Given the description of an element on the screen output the (x, y) to click on. 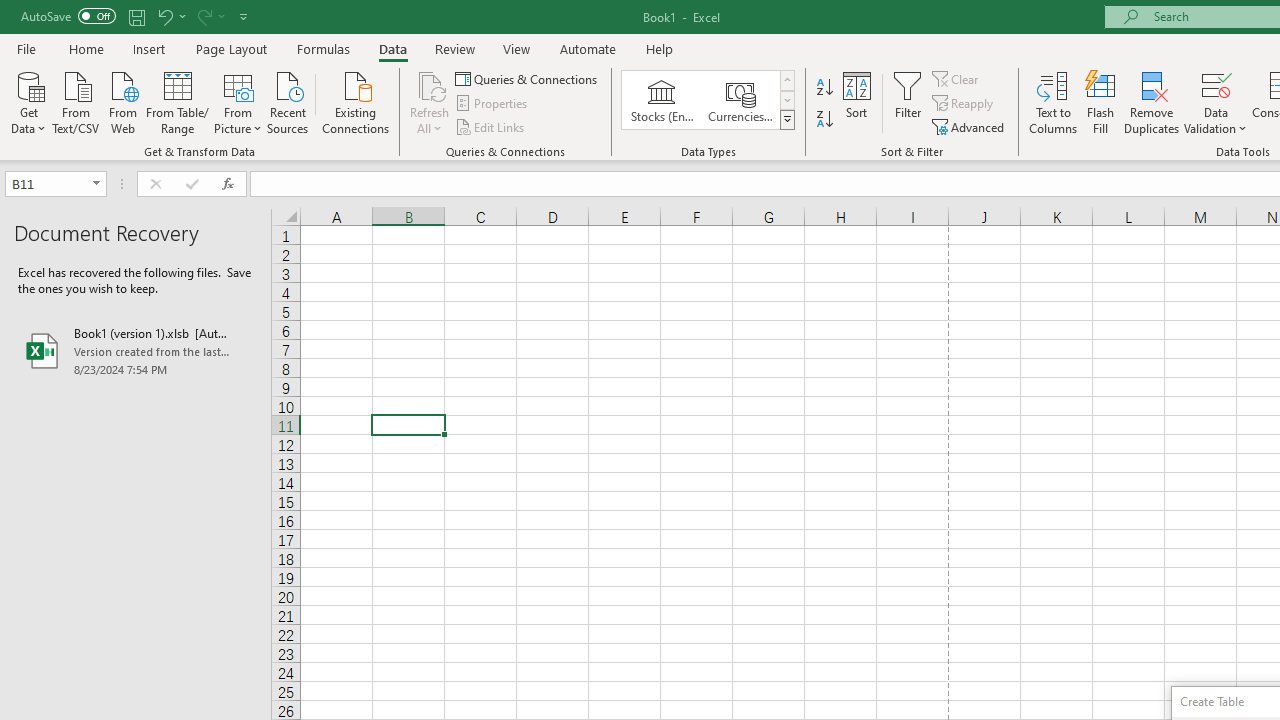
Reapply (964, 103)
Clear (957, 78)
Automate (588, 48)
From Web (122, 101)
Existing Connections (355, 101)
Data Validation... (1215, 102)
Data Validation... (1215, 84)
Text to Columns... (1053, 102)
Book1 (version 1).xlsb  [AutoRecovered] (136, 350)
Sort A to Z (824, 87)
Row Down (786, 100)
Sort... (856, 102)
